Given the description of an element on the screen output the (x, y) to click on. 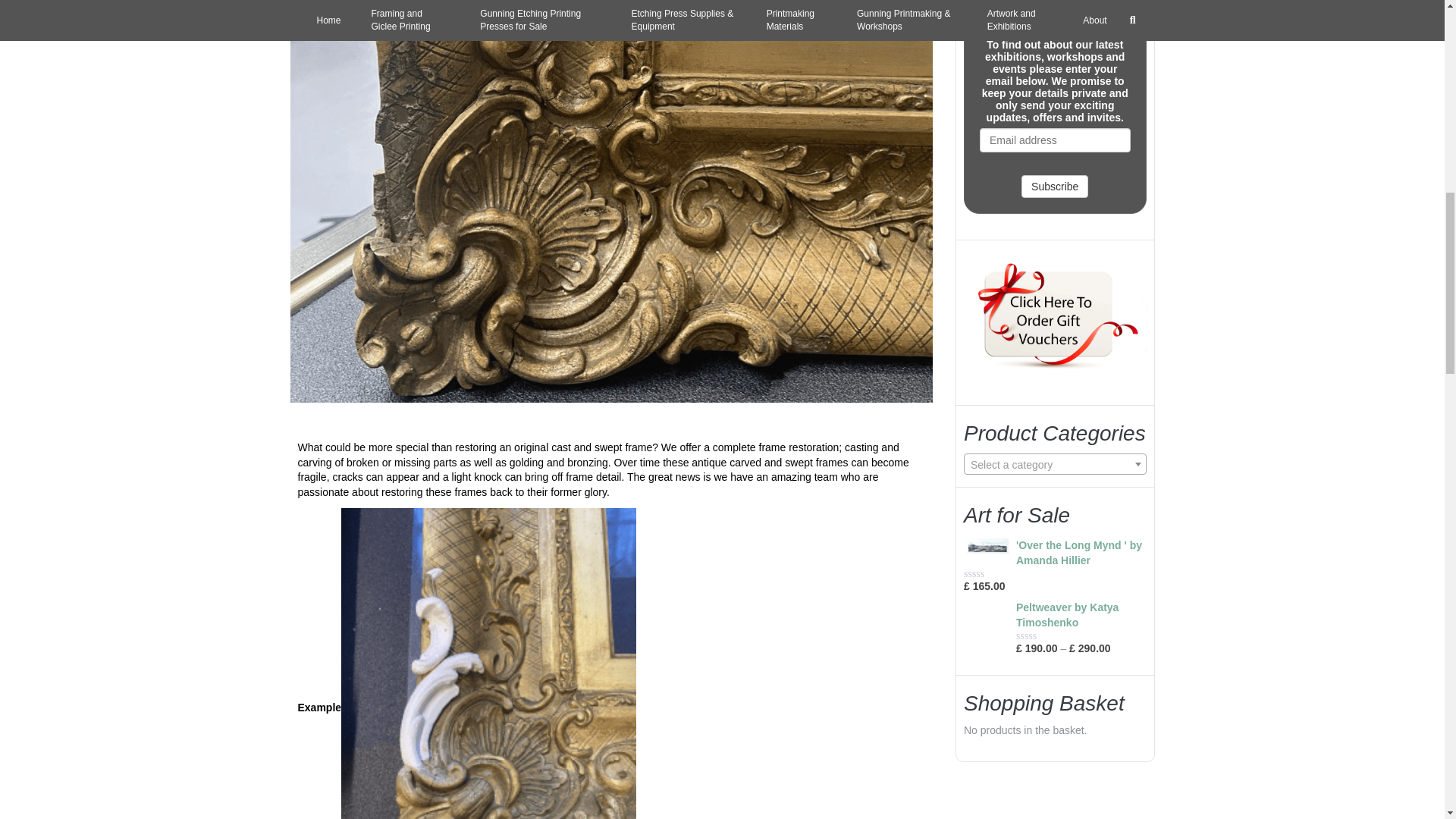
Subscribe (1054, 186)
